Given the description of an element on the screen output the (x, y) to click on. 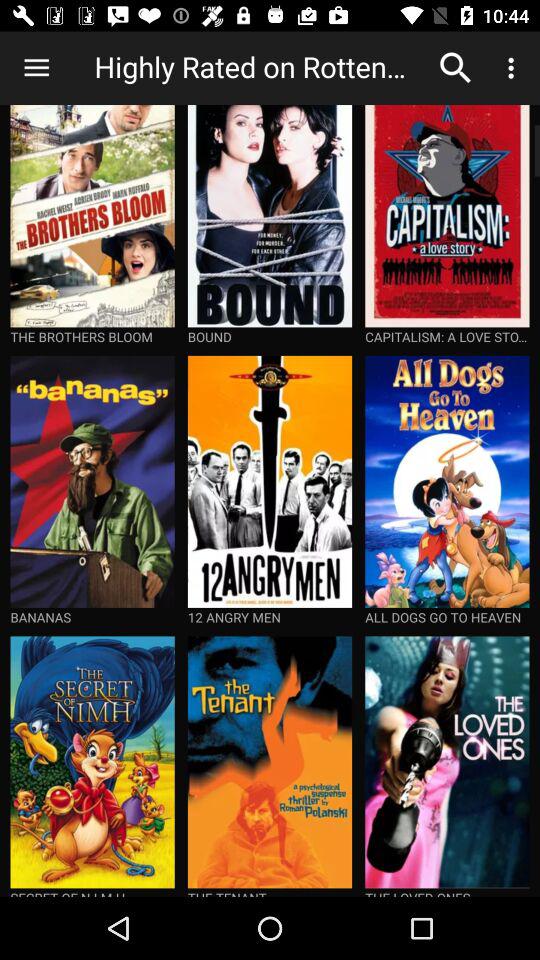
open icon to the left of highly rated on (36, 68)
